Given the description of an element on the screen output the (x, y) to click on. 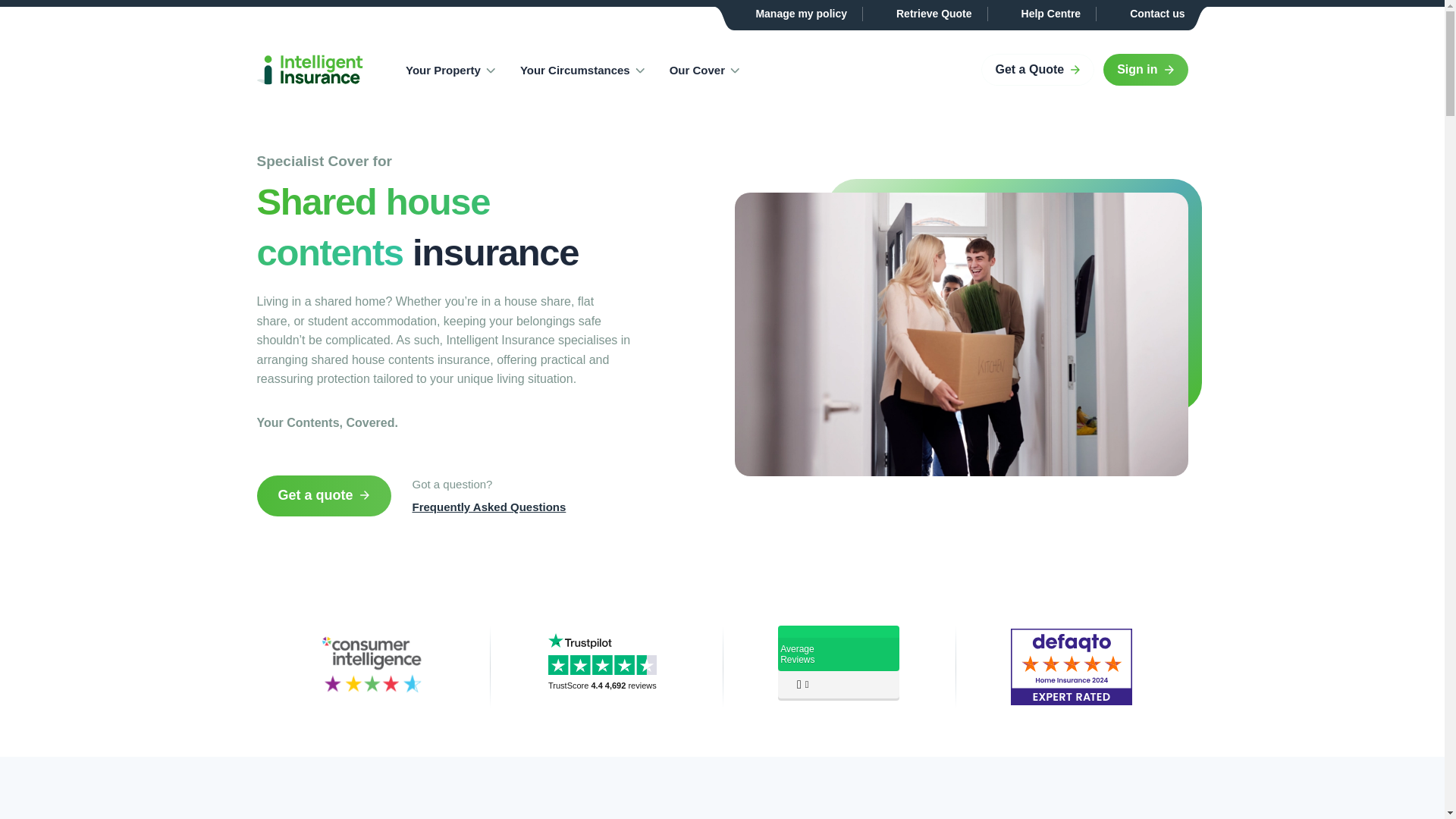
Customer reviews powered by Trustpilot (605, 686)
Help Centre (1042, 13)
Reviews Badge Widget (838, 663)
Manage my policy (791, 13)
Retrieve Quote (924, 13)
Contact us (1148, 13)
